Given the description of an element on the screen output the (x, y) to click on. 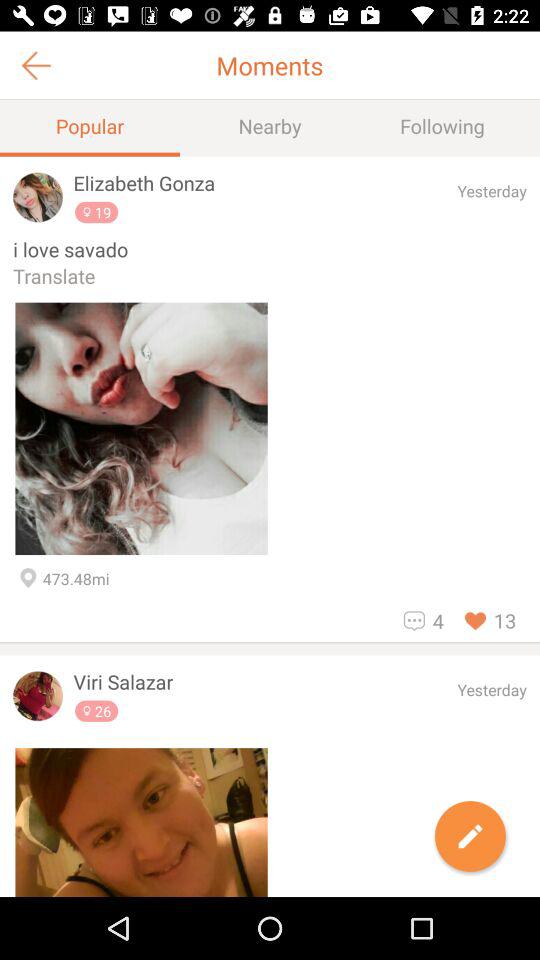
view profile (38, 696)
